Given the description of an element on the screen output the (x, y) to click on. 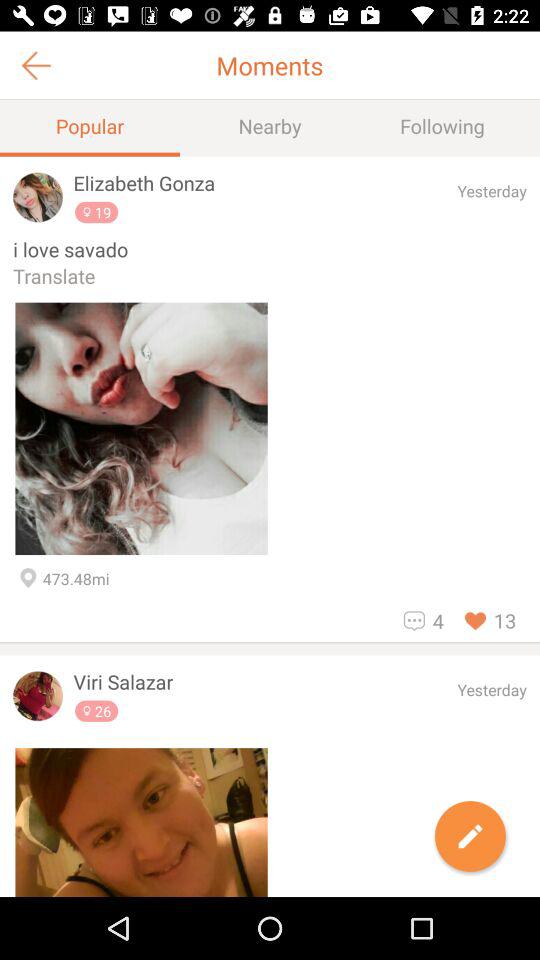
view profile (38, 696)
